Given the description of an element on the screen output the (x, y) to click on. 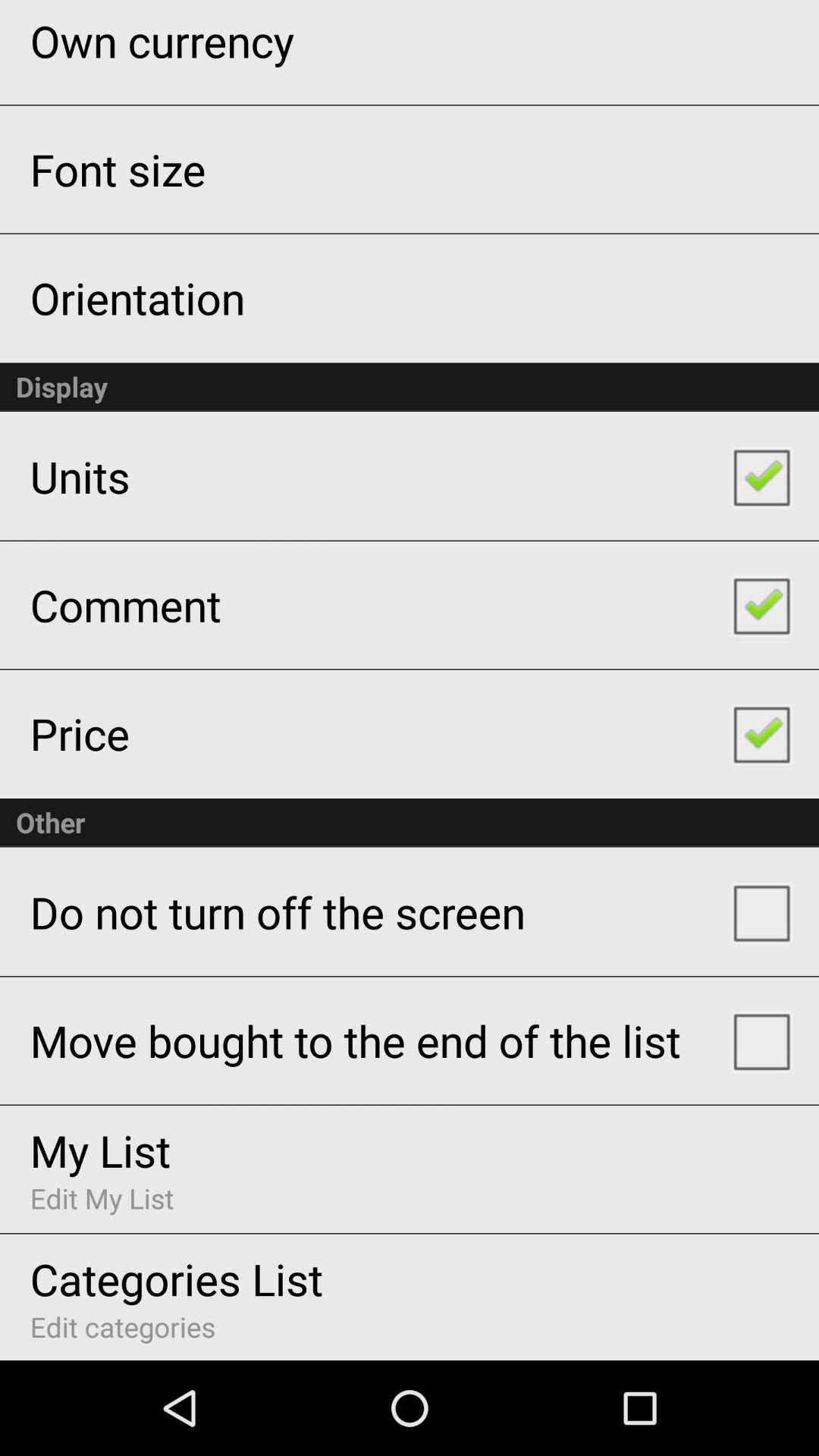
turn off the item below do not turn item (355, 1040)
